Given the description of an element on the screen output the (x, y) to click on. 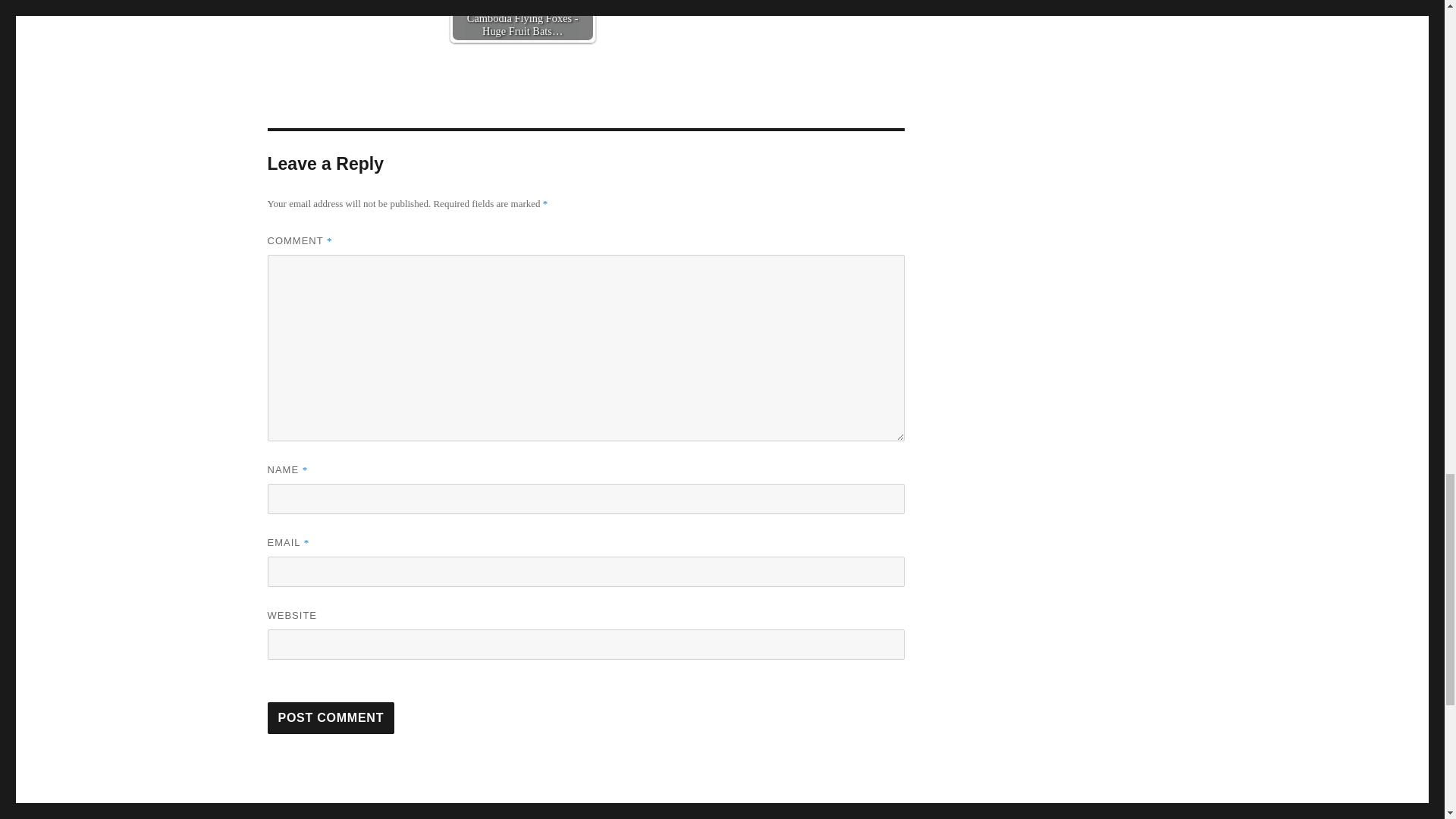
Post Comment (330, 717)
